Given the description of an element on the screen output the (x, y) to click on. 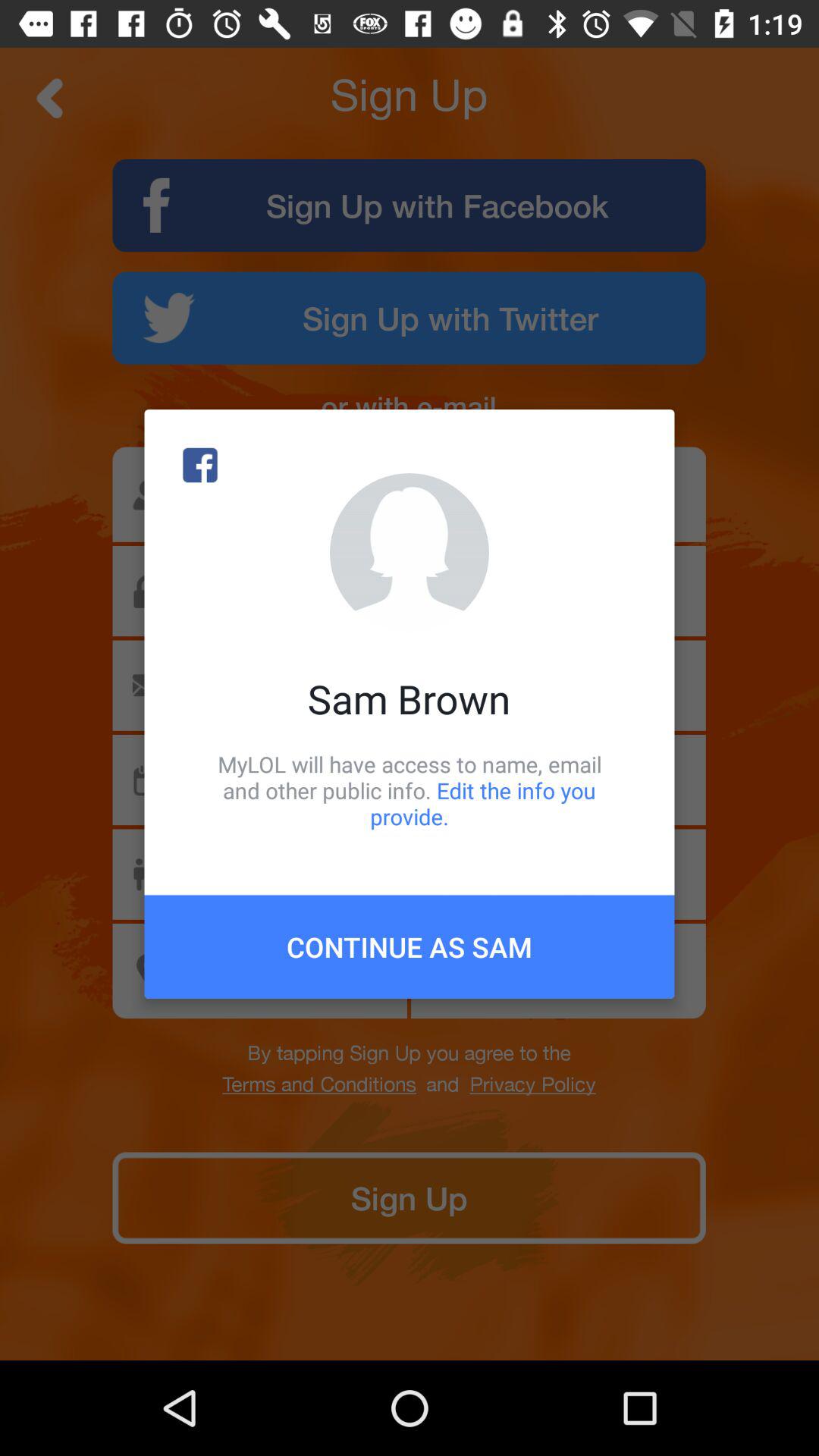
launch icon below mylol will have icon (409, 946)
